Given the description of an element on the screen output the (x, y) to click on. 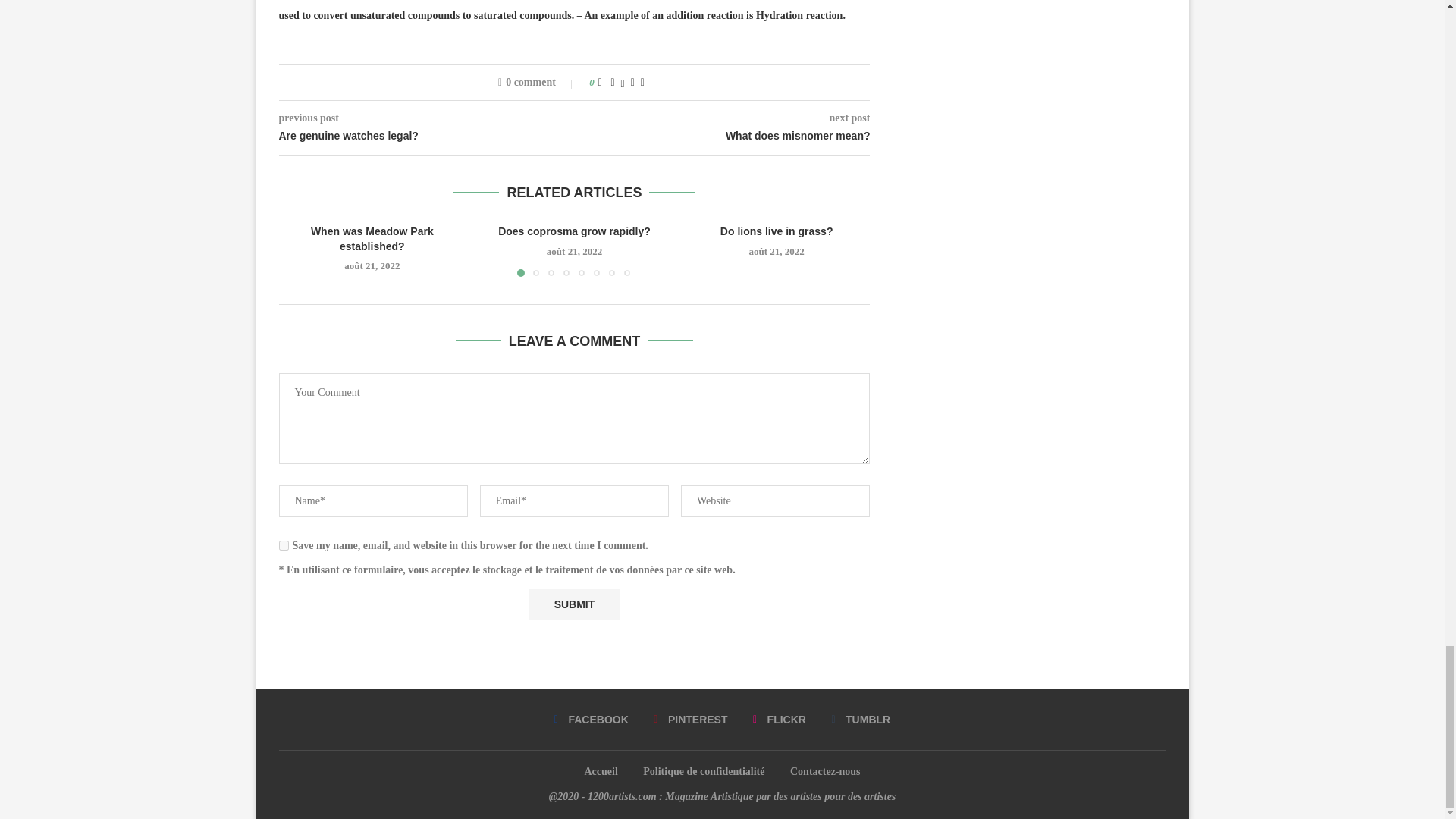
Do lions live in grass? (776, 231)
Are genuine watches legal? (427, 136)
Does coprosma grow rapidly? (573, 231)
What does misnomer mean? (722, 136)
yes (283, 545)
When was Meadow Park established? (372, 238)
Submit (574, 603)
